Given the description of an element on the screen output the (x, y) to click on. 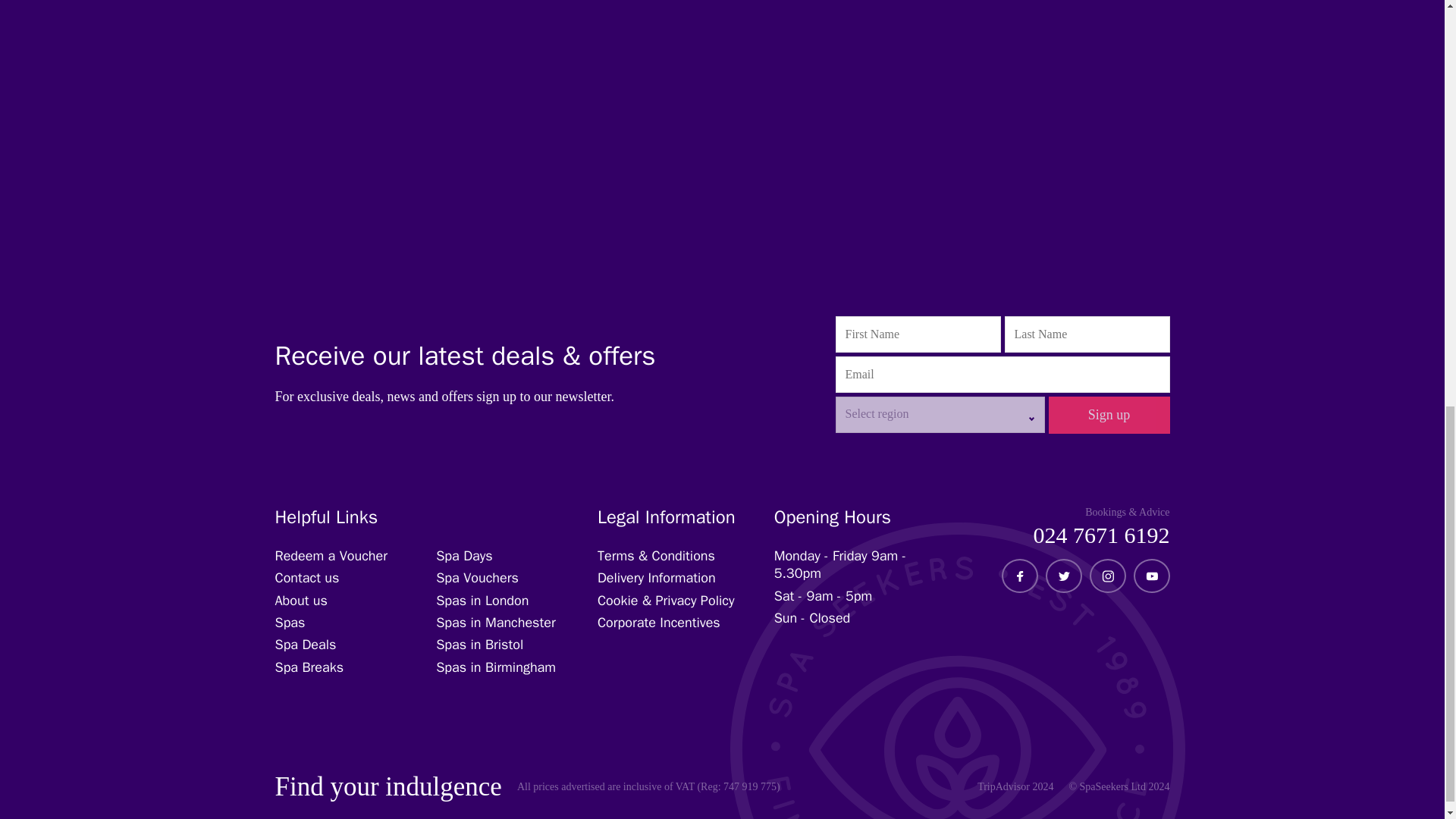
Instagram (1106, 576)
Twitter (1062, 576)
Youtube (1150, 576)
Facebook (1019, 576)
